Given the description of an element on the screen output the (x, y) to click on. 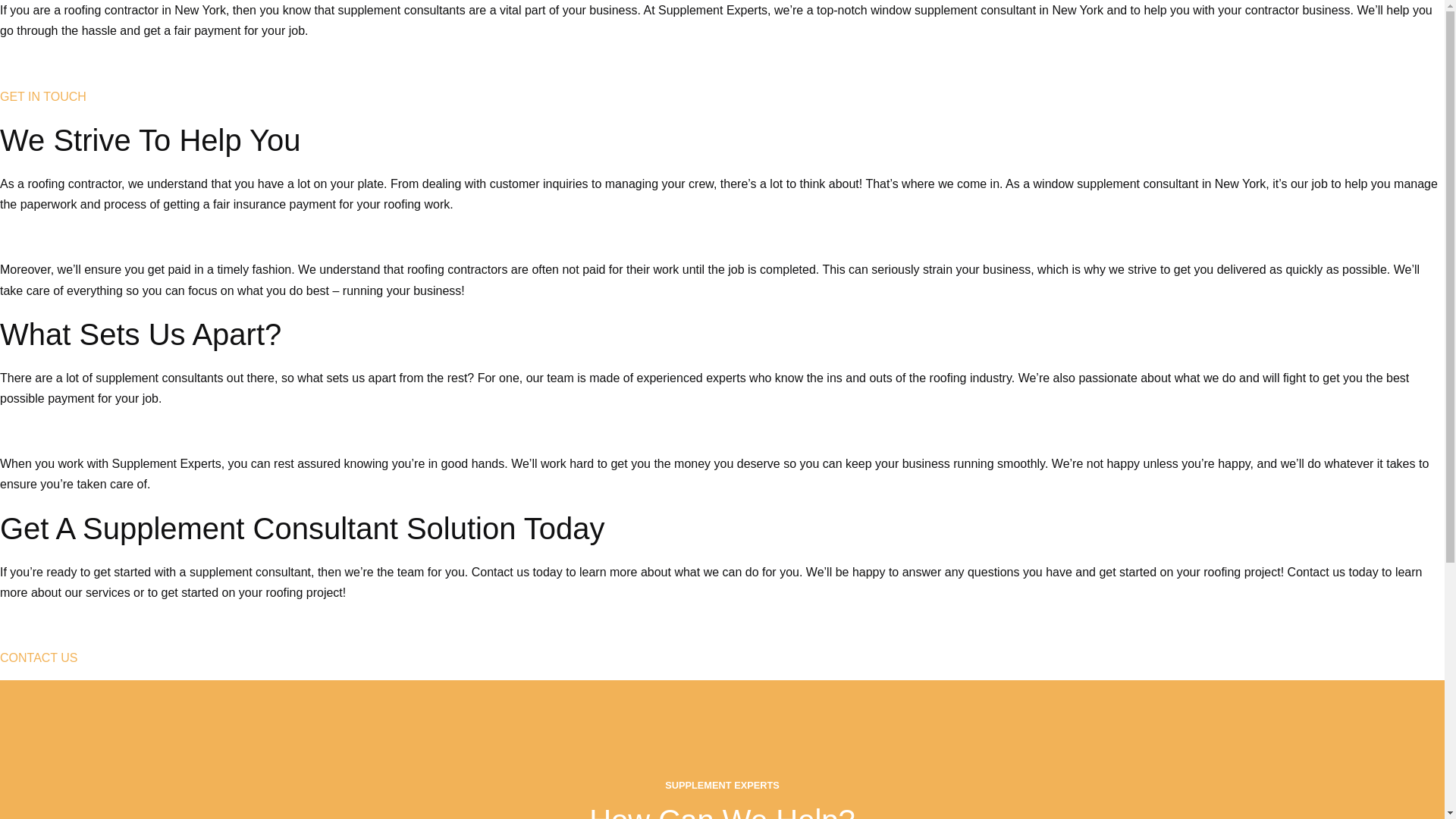
CONTACT US (39, 657)
GET IN TOUCH (42, 96)
